Given the description of an element on the screen output the (x, y) to click on. 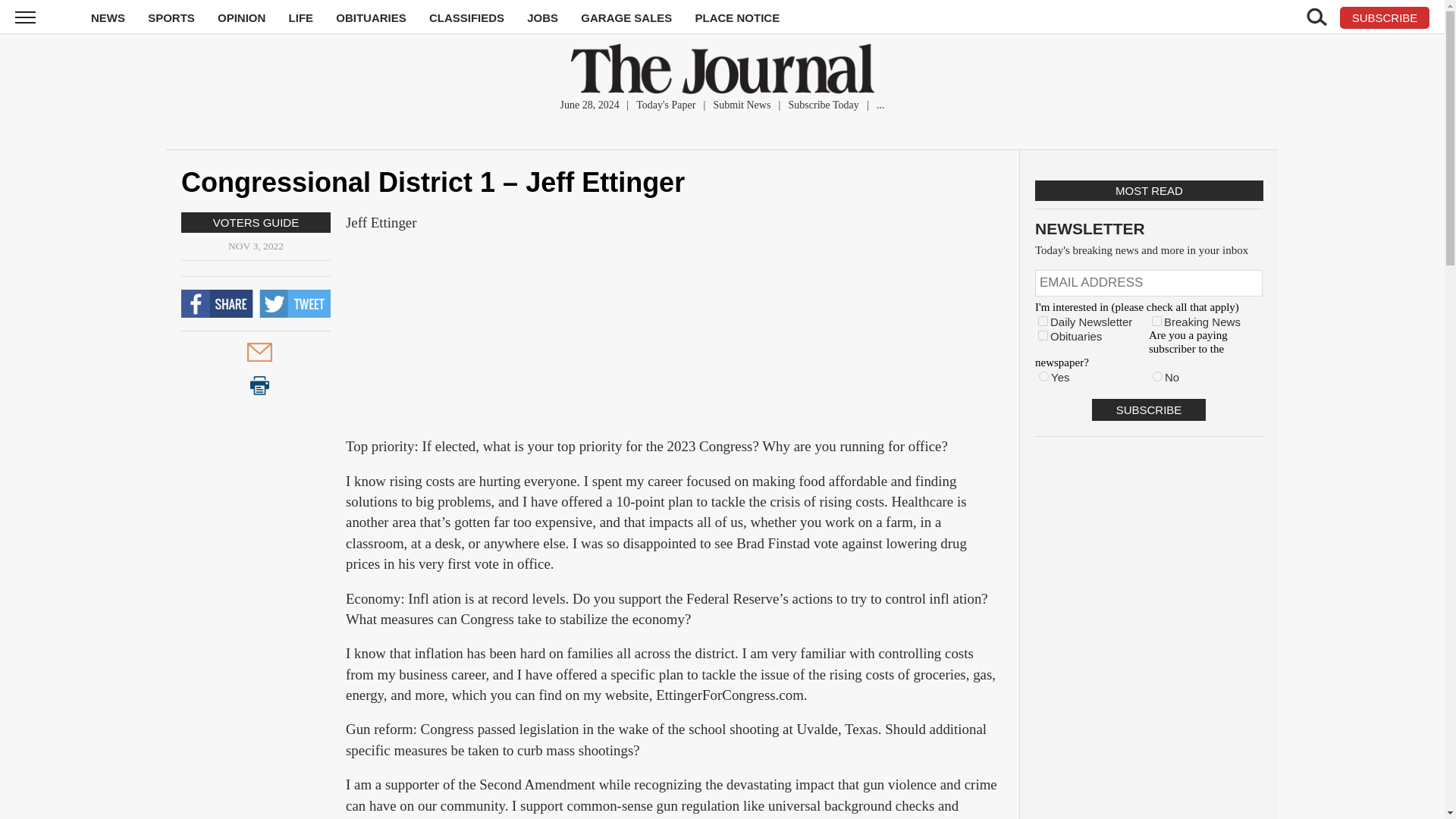
1 (1043, 320)
4 (1043, 335)
Subscribe (1148, 409)
3rd party ad content (674, 340)
View all posts in Voters Guide (255, 222)
3rd party ad content (1149, 546)
No (1157, 376)
Yes (1043, 376)
2 (1156, 320)
